Given the description of an element on the screen output the (x, y) to click on. 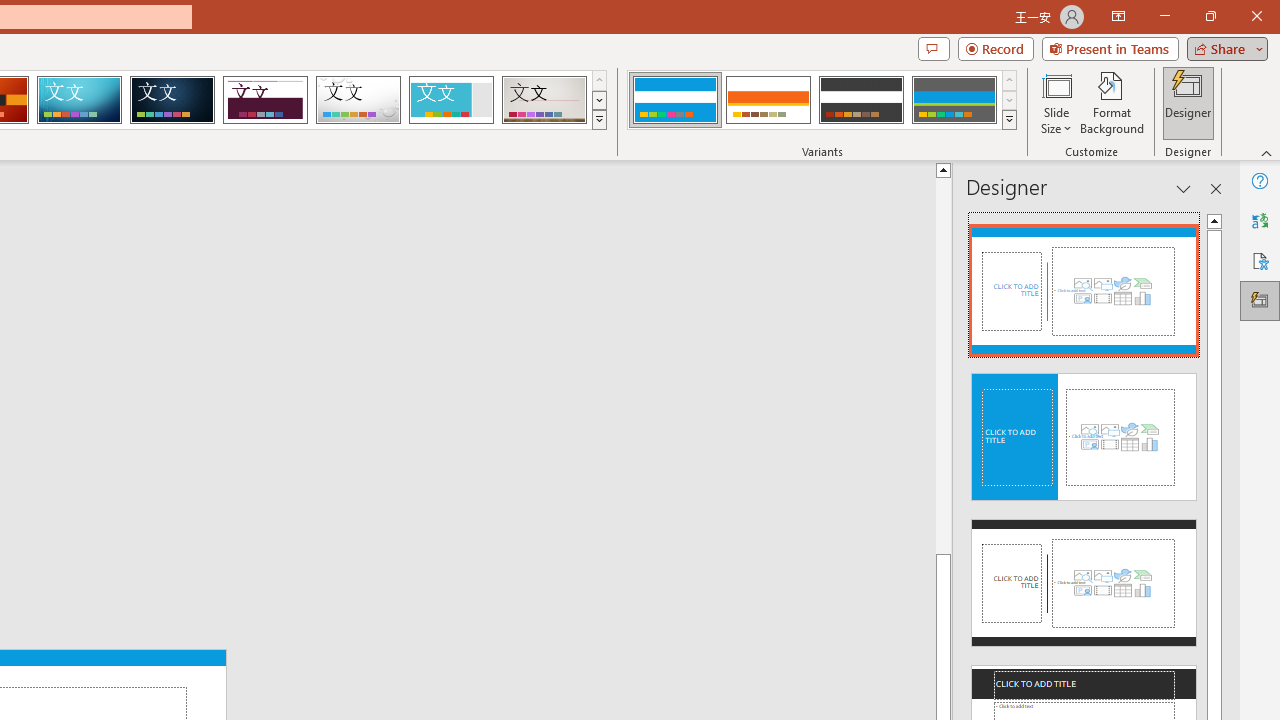
Droplet (358, 100)
Circuit (79, 100)
Banded Variant 1 (674, 100)
